Given the description of an element on the screen output the (x, y) to click on. 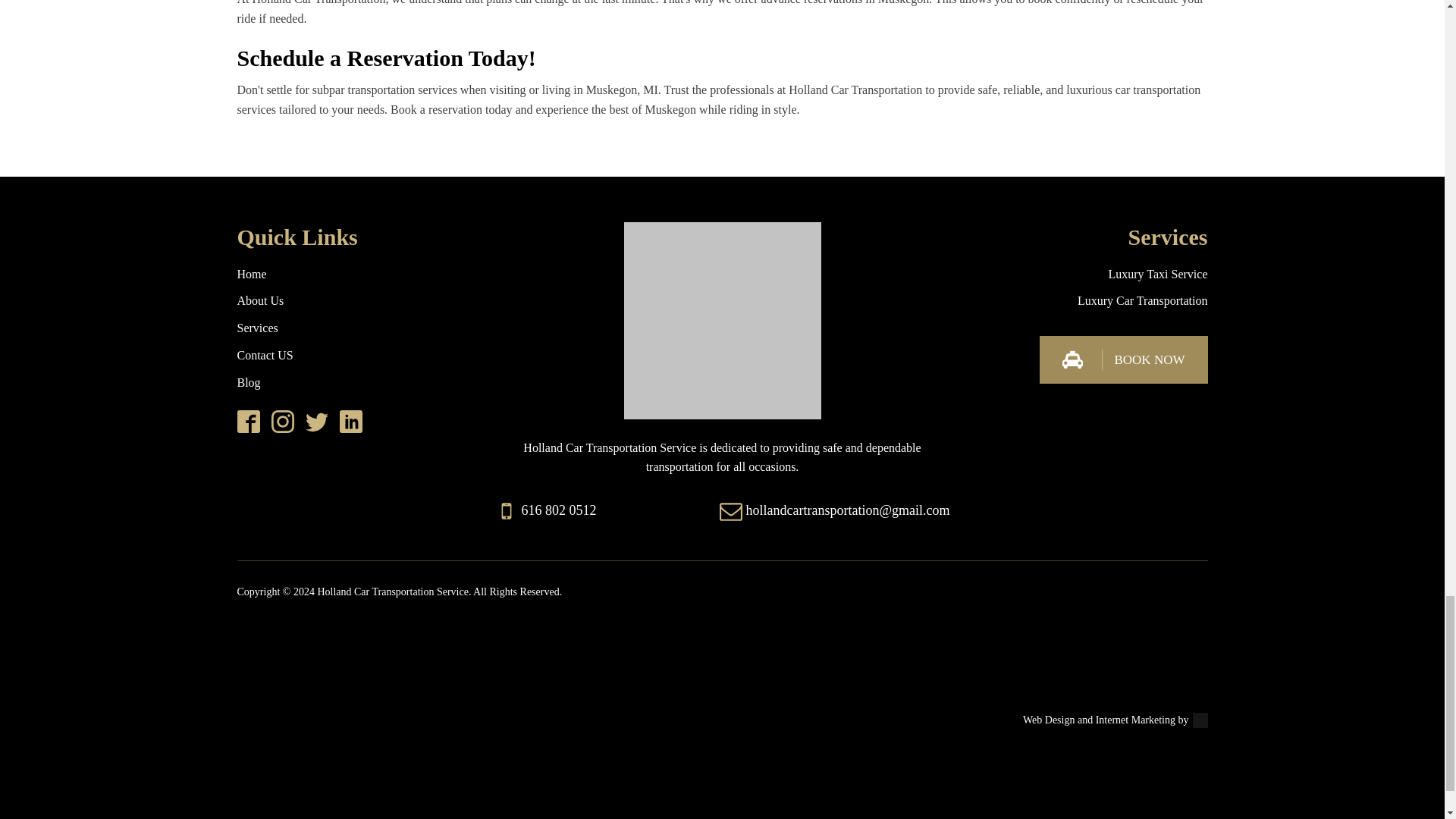
BOOK NOW (1123, 359)
Blog (247, 383)
Contact US (263, 355)
Luxury Car Transportation (1142, 301)
Luxury Taxi Service (1158, 274)
About Us (259, 301)
616 802 0512 (558, 510)
Services (256, 328)
Home (250, 274)
